Given the description of an element on the screen output the (x, y) to click on. 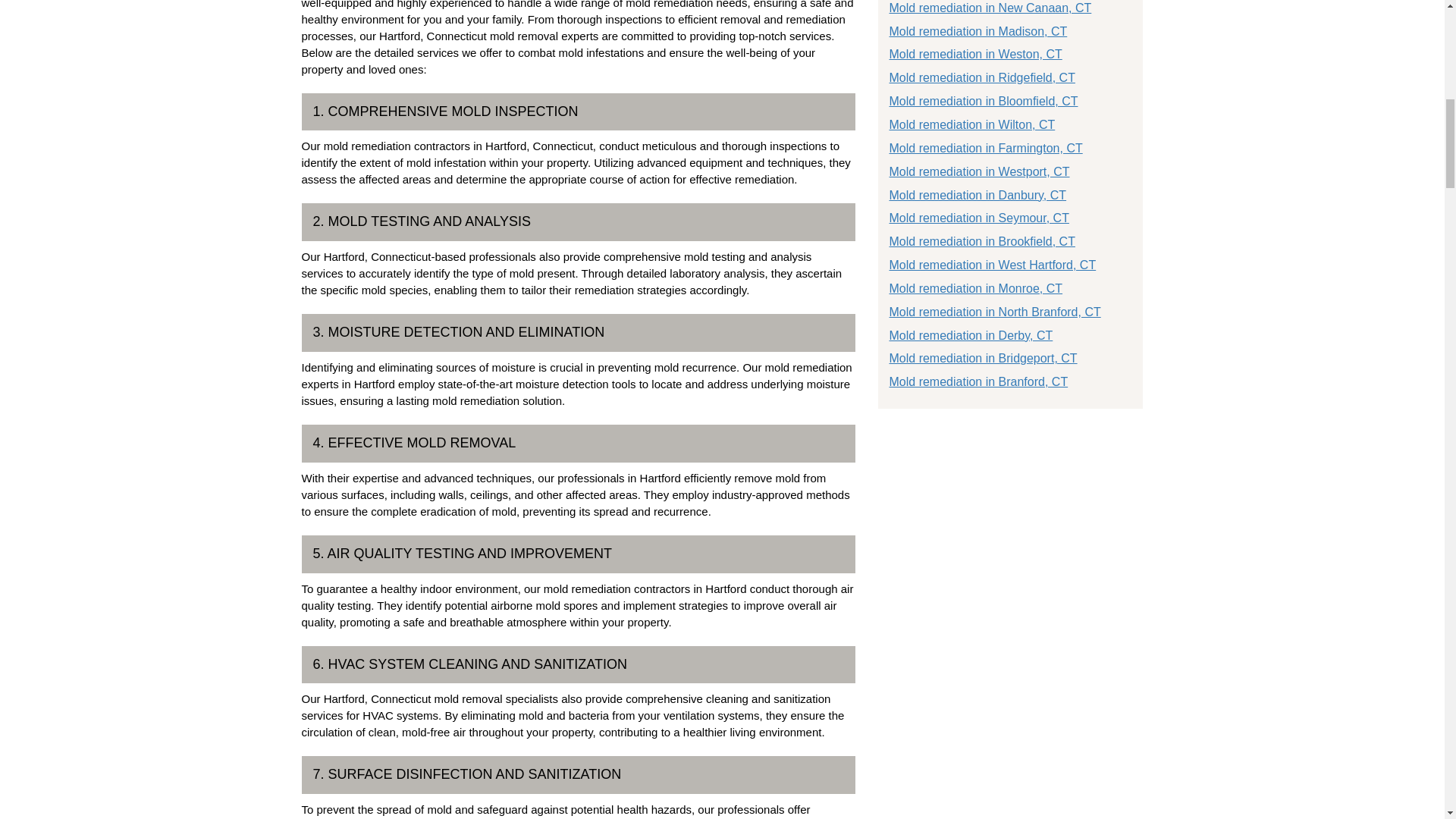
Mold Remediation in New Canaan, CT (989, 7)
Mold Remediation in Bloomfield, CT (982, 101)
Mold remediation in Brookfield, CT (981, 241)
Mold remediation in Monroe, CT (975, 287)
Mold remediation in West Hartford, CT (992, 264)
Mold remediation in Farmington, CT (984, 147)
Mold remediation in Madison, CT (977, 31)
Mold remediation in Derby, CT (970, 335)
Mold Remediation in Weston, CT (974, 53)
Mold remediation in Ridgefield, CT (981, 77)
